Given the description of an element on the screen output the (x, y) to click on. 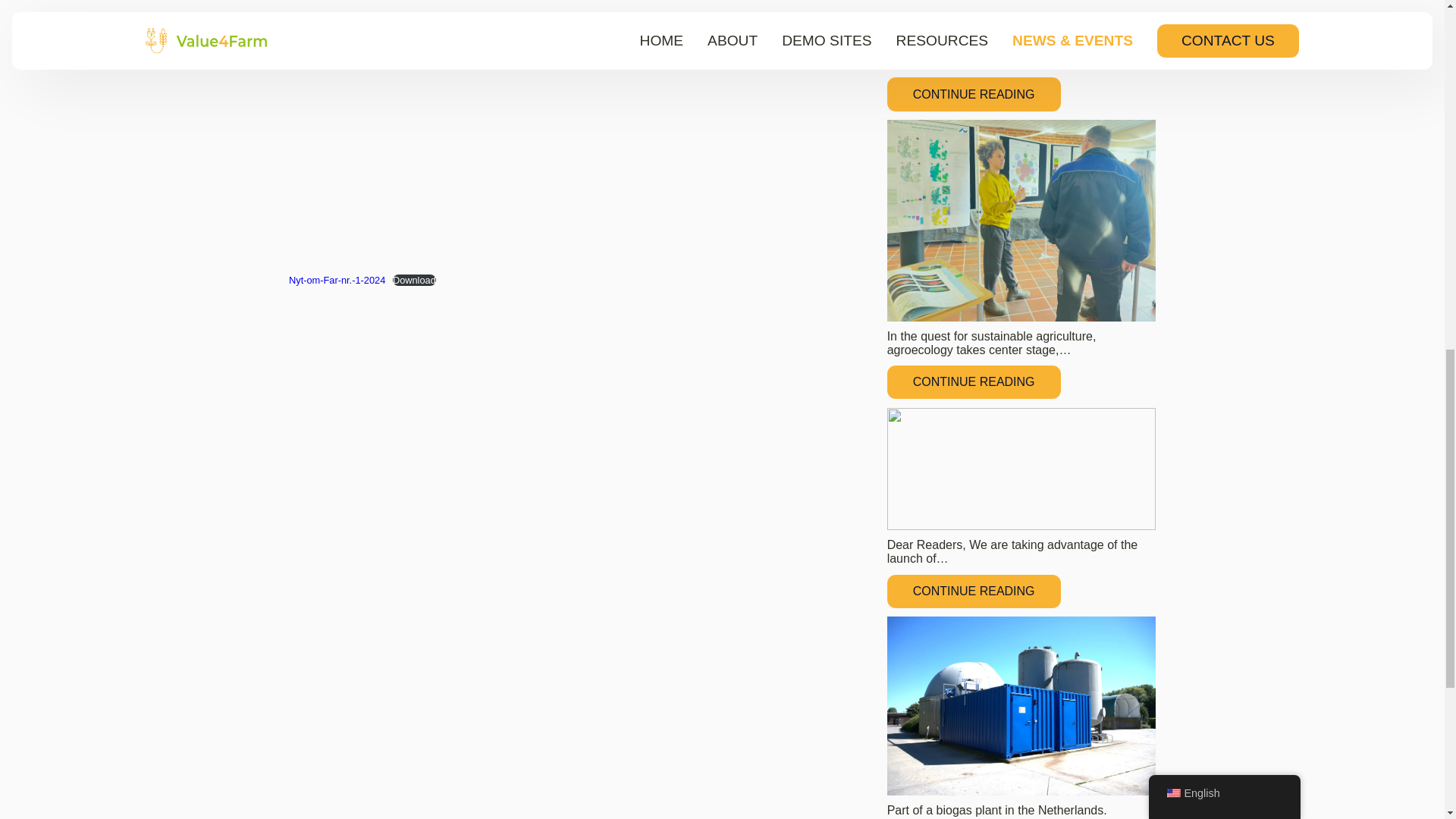
CONTINUE READING (973, 93)
CONTINUE READING (973, 381)
CONTINUE READING (973, 591)
Nyt-om-Far-nr.-1-2024 (336, 279)
Download (414, 279)
